Given the description of an element on the screen output the (x, y) to click on. 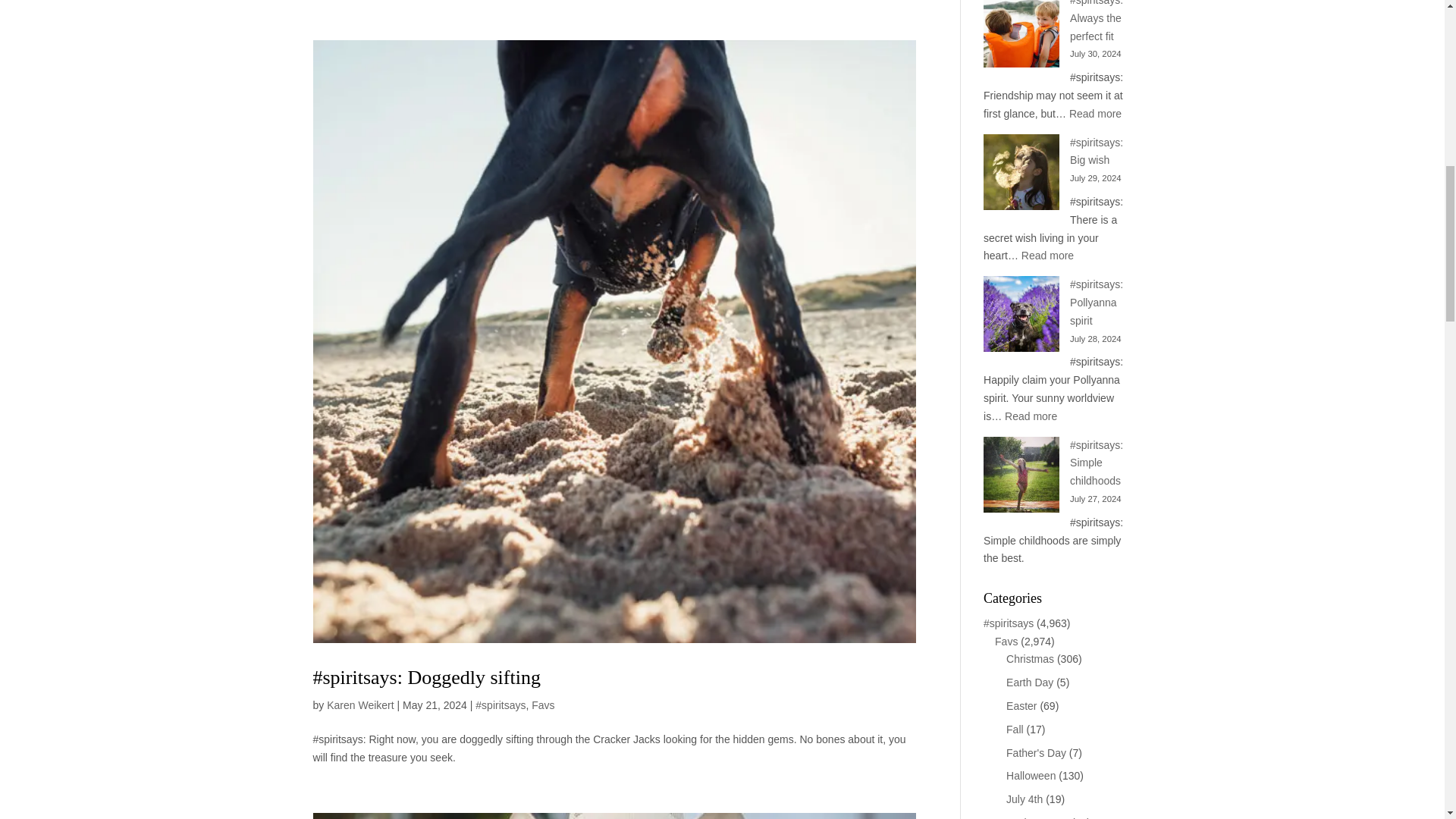
Posts by Karen Weikert (359, 705)
